Given the description of an element on the screen output the (x, y) to click on. 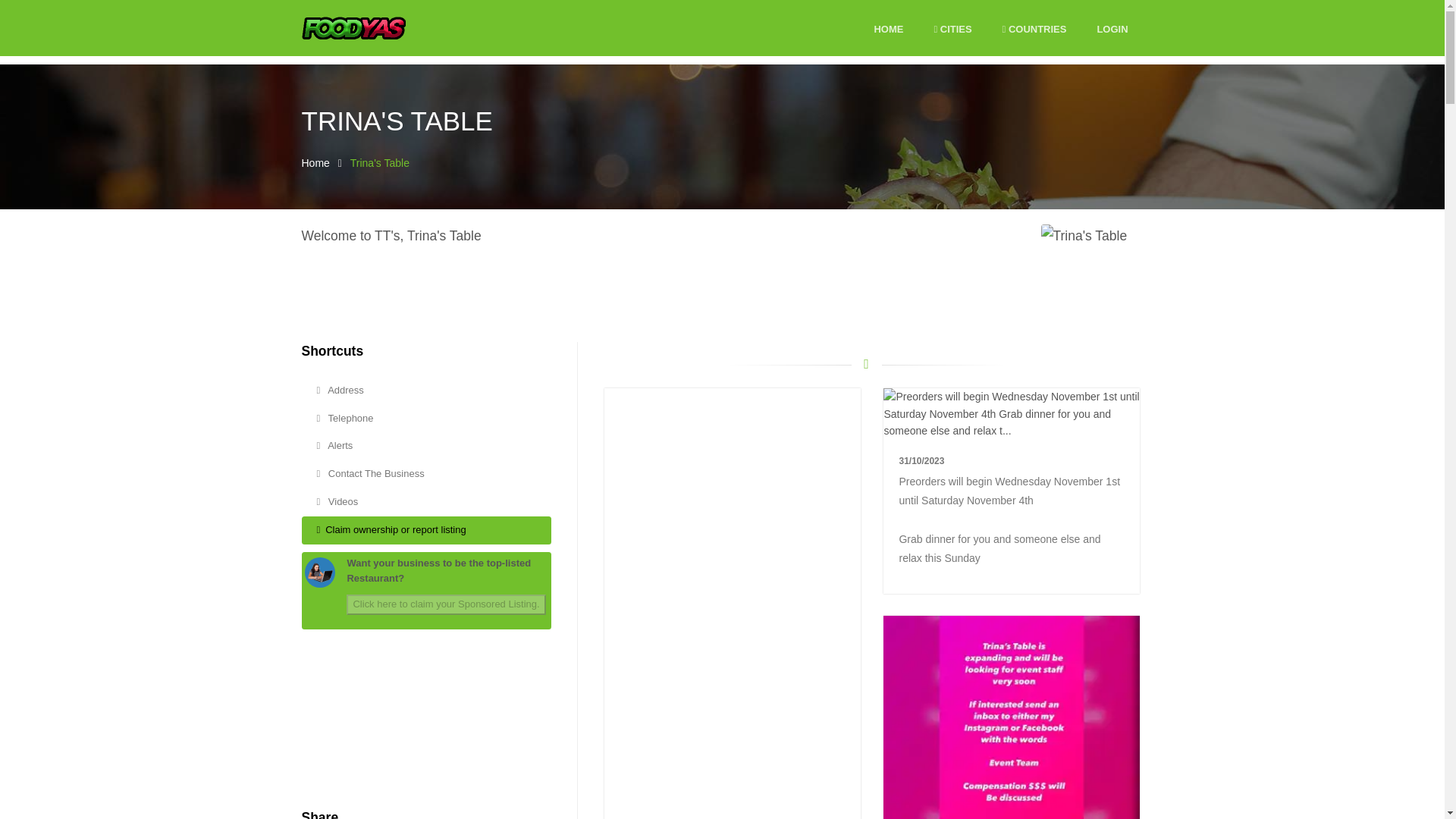
Home (315, 162)
Click here to claim your Sponsored Listing. (445, 604)
Contact The Business (426, 474)
Address (426, 390)
Telephone (426, 418)
Alerts (426, 446)
HOME (887, 29)
Claim ownership or report listing (426, 530)
CITIES (952, 29)
Videos (426, 502)
